Given the description of an element on the screen output the (x, y) to click on. 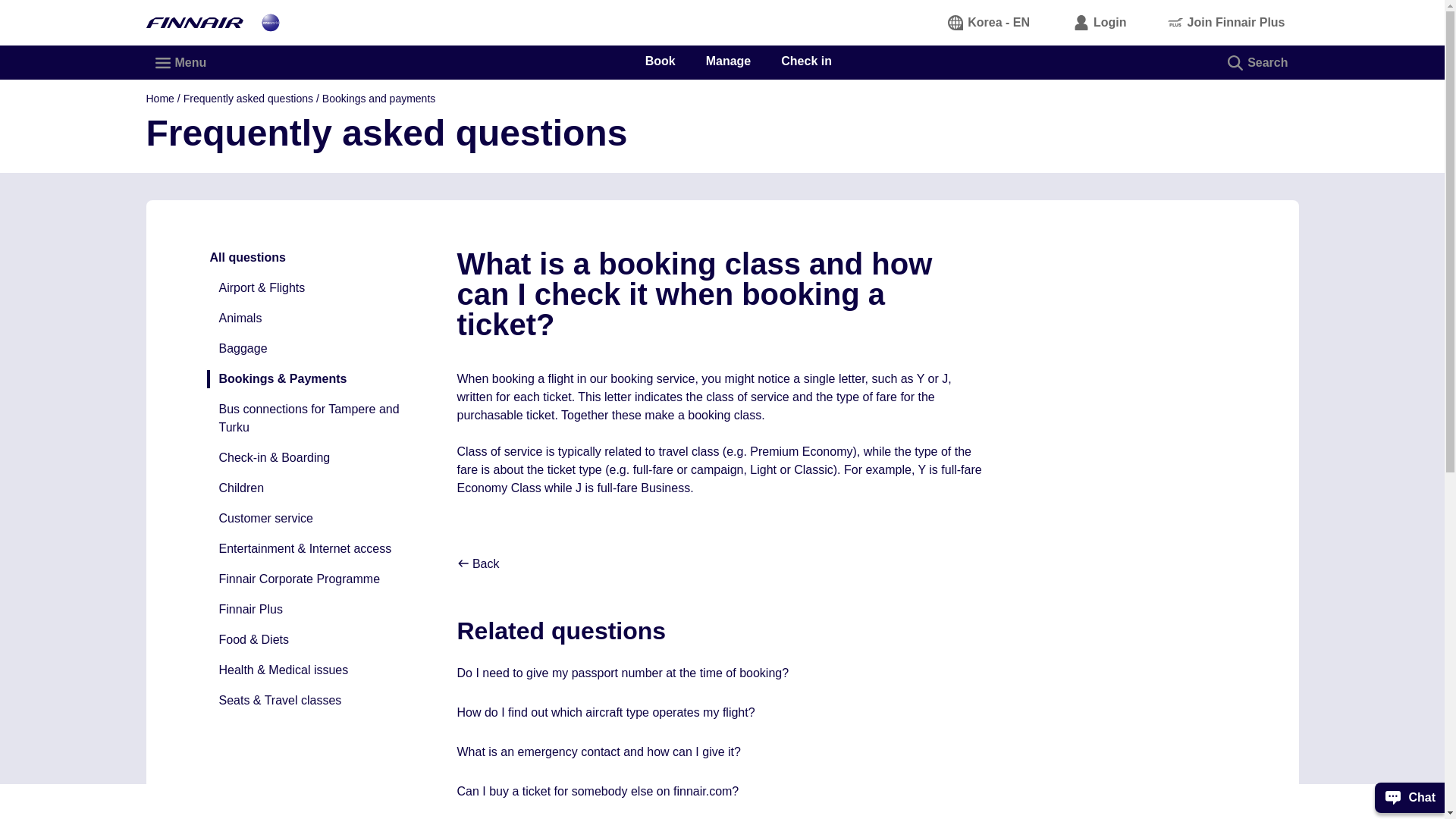
Check in (805, 61)
Korea - EN (989, 22)
Menu (180, 61)
Book (660, 61)
Manage (728, 61)
Login (1100, 22)
Search (1258, 61)
Join Finnair Plus (1227, 22)
